Given the description of an element on the screen output the (x, y) to click on. 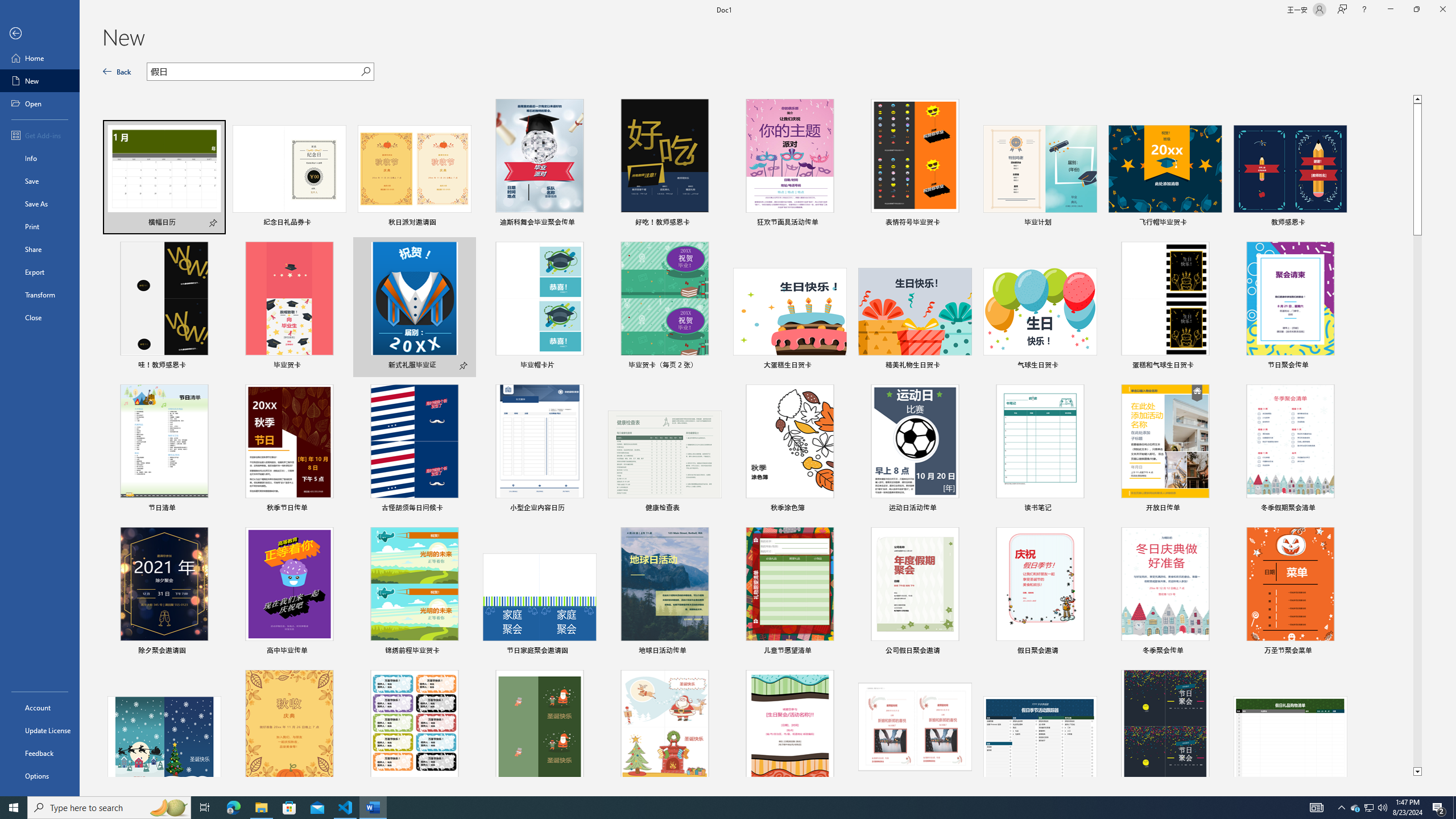
Export (40, 271)
Line up (1417, 98)
Back (40, 33)
